Given the description of an element on the screen output the (x, y) to click on. 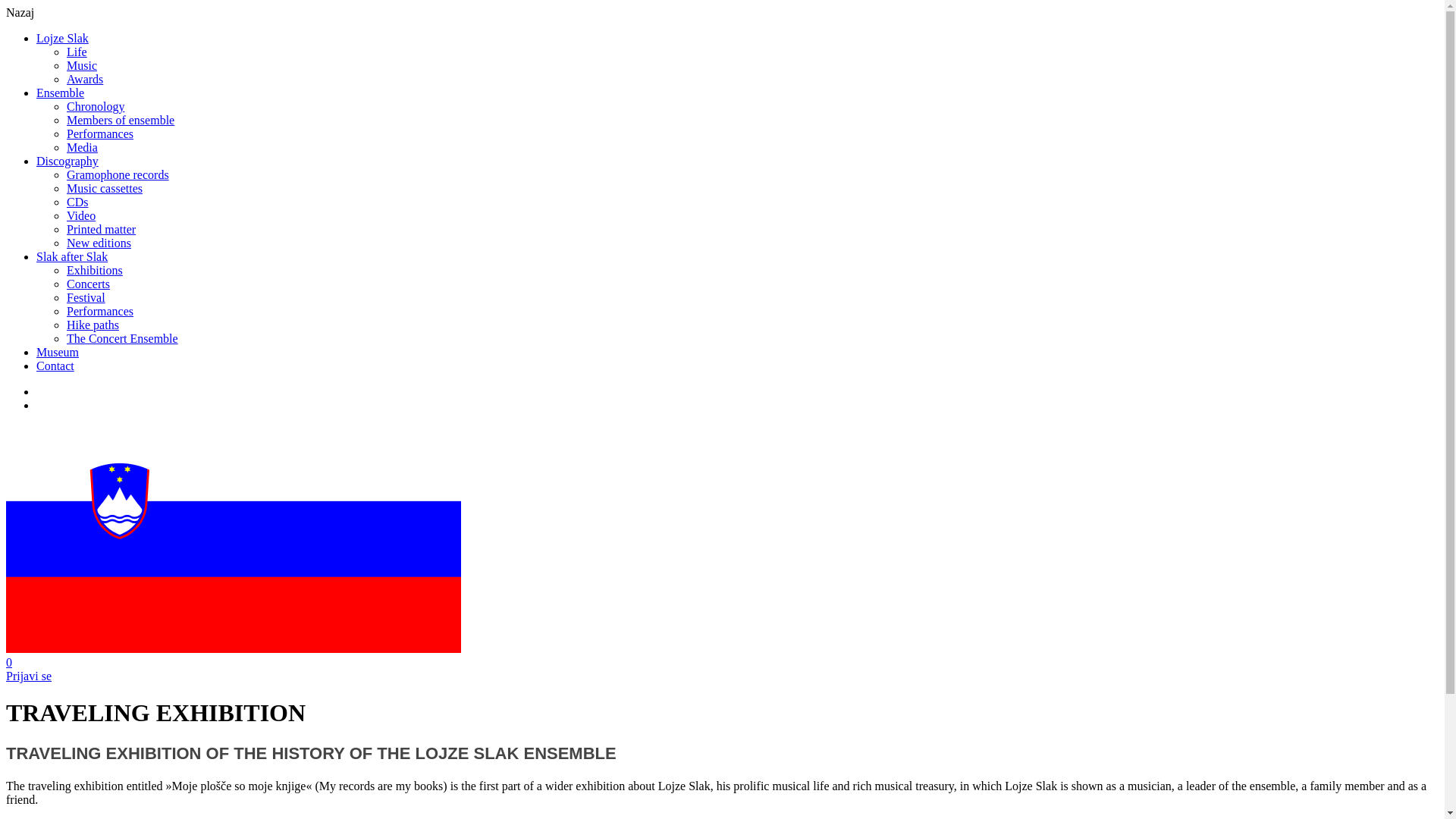
New editions (98, 242)
Hike paths (92, 324)
Printed matter (100, 228)
Awards (84, 78)
The Concert Ensemble (121, 338)
Life (76, 51)
Music (81, 65)
Discography (67, 160)
Chronology (94, 106)
Contact (55, 365)
Festival (85, 297)
Gramophone records (117, 174)
Performances (99, 310)
Members of ensemble (120, 119)
Media (81, 146)
